Given the description of an element on the screen output the (x, y) to click on. 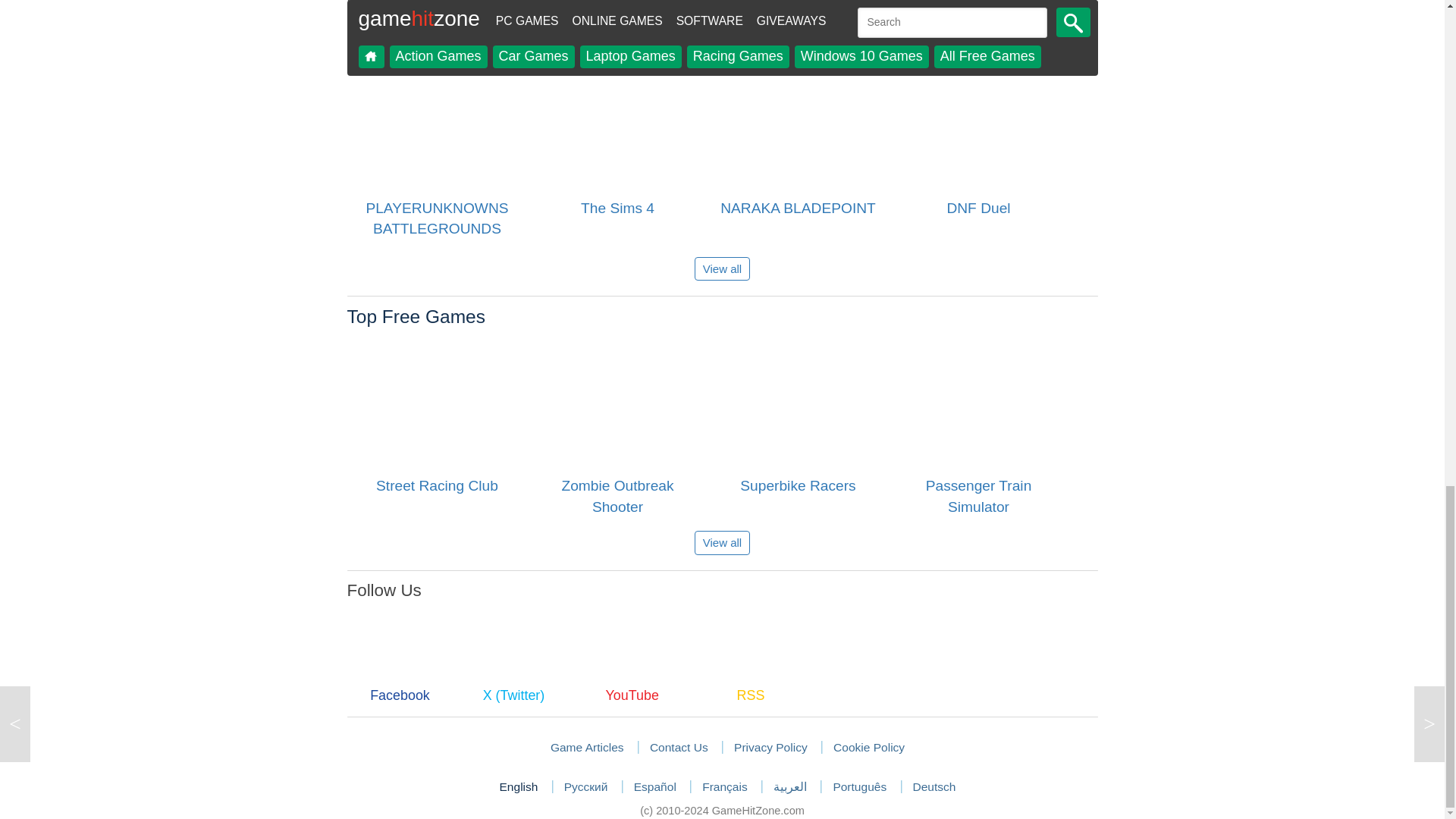
Zombie Outbreak Shooter (617, 404)
View all (721, 268)
YouTube (631, 670)
The Sims 4 (617, 127)
Street Racing Club (436, 404)
Game Articles (587, 747)
View all (721, 542)
PLAYERUNKNOWNS BATTLEGROUNDS (436, 127)
Contact Us (678, 747)
Facebook (400, 670)
